Given the description of an element on the screen output the (x, y) to click on. 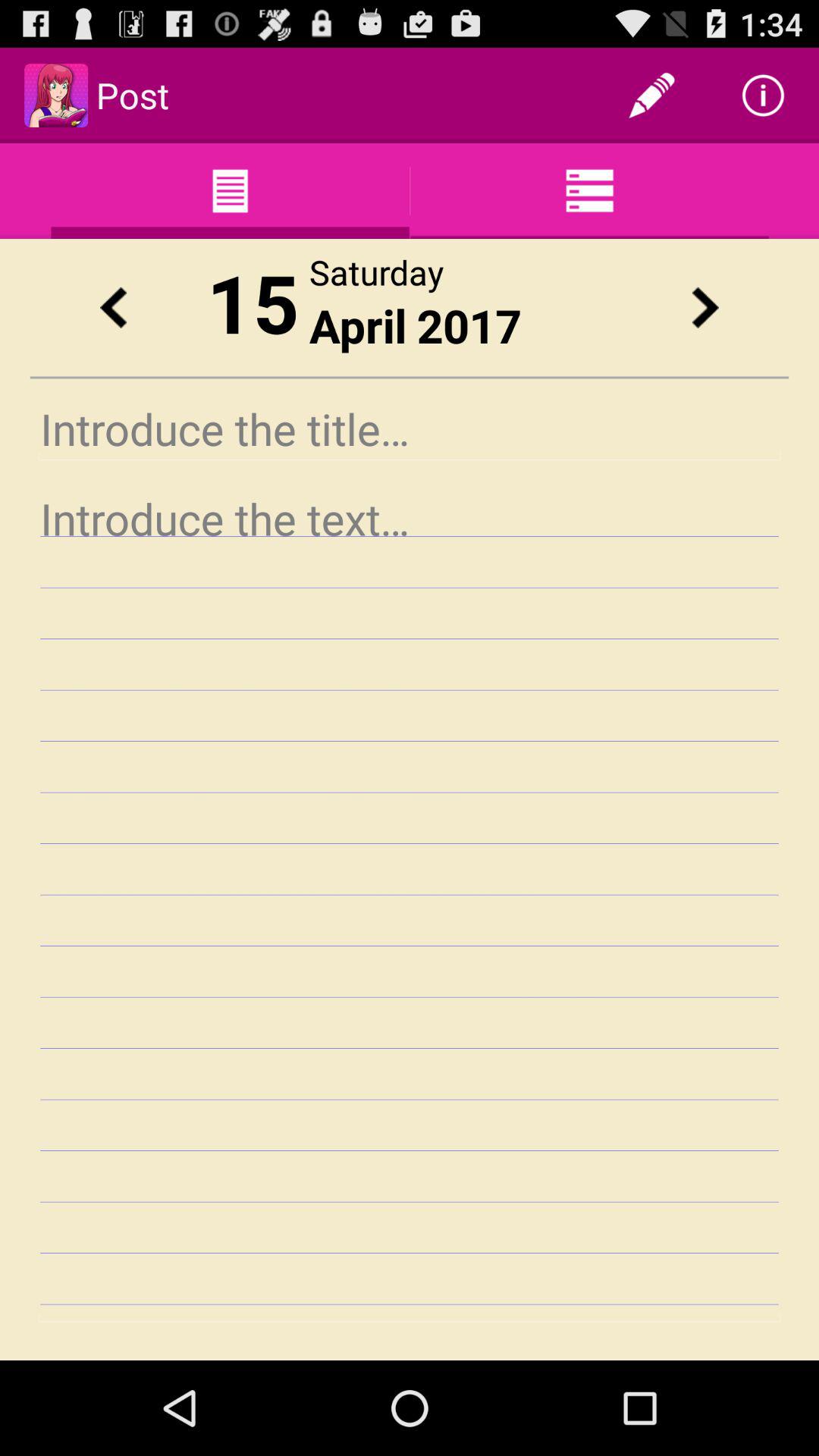
title (409, 428)
